Given the description of an element on the screen output the (x, y) to click on. 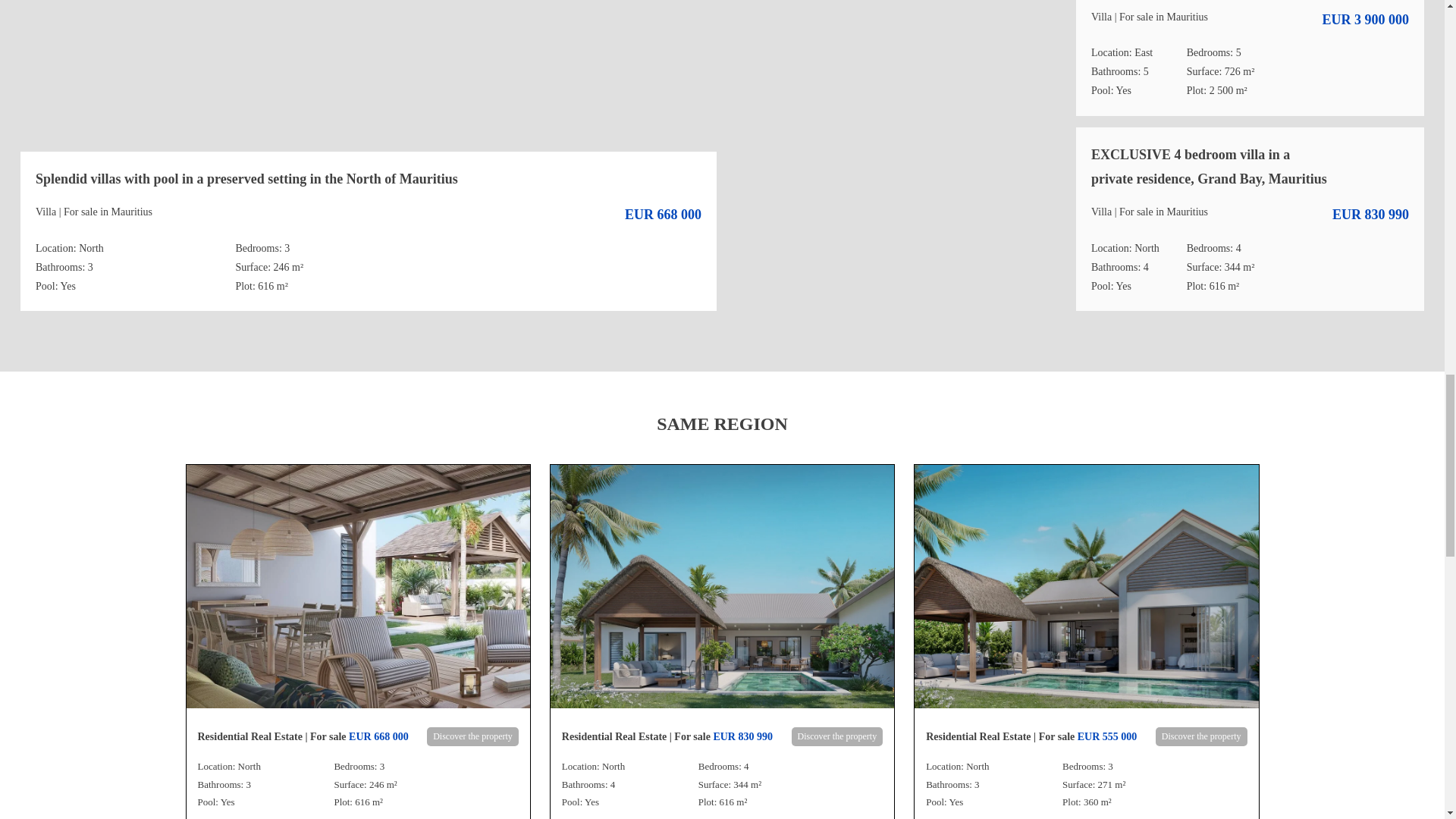
Discover the property (1201, 736)
Discover the property (837, 736)
Discover the property (472, 736)
